Given the description of an element on the screen output the (x, y) to click on. 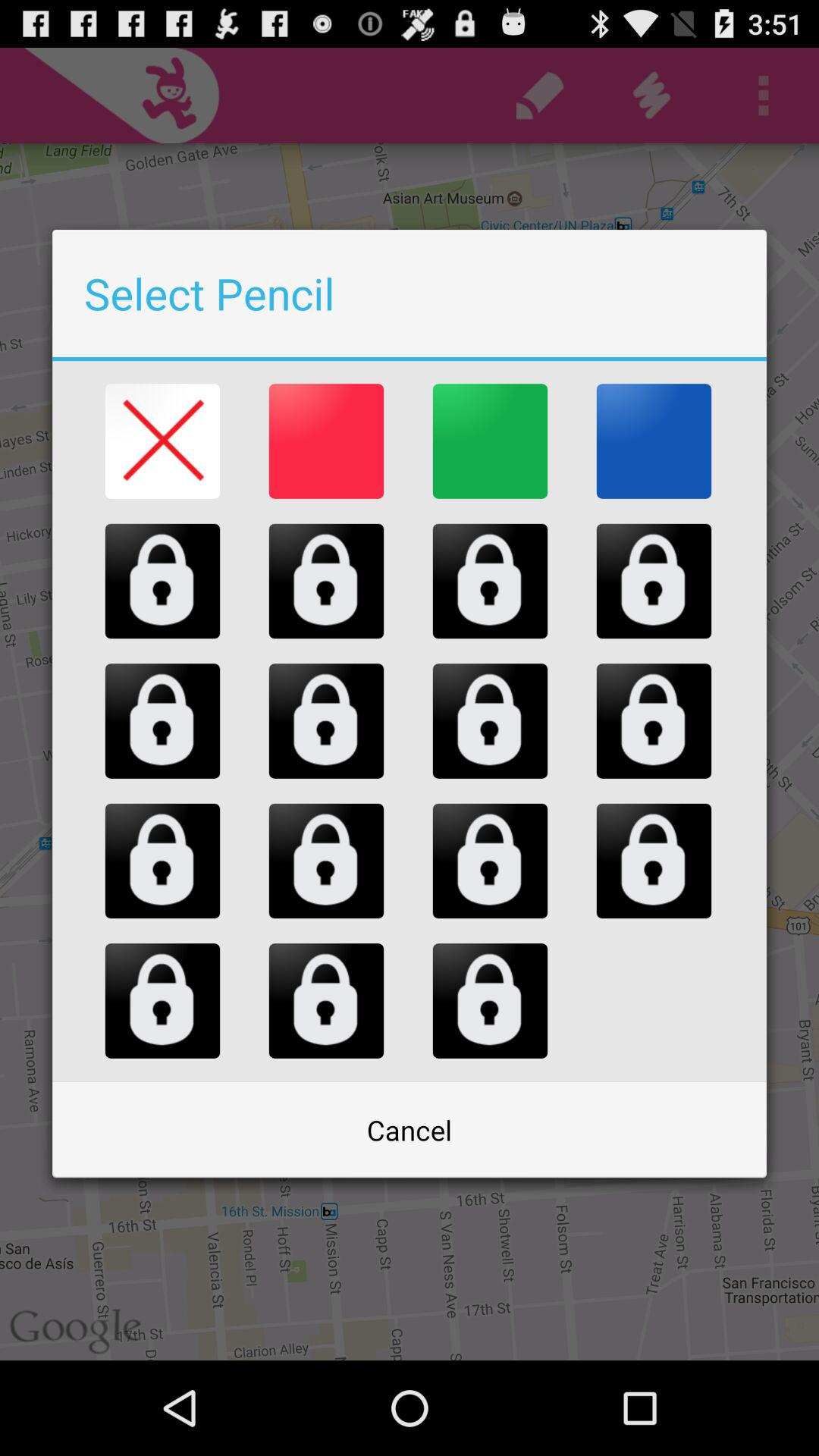
turn on the cancel item (409, 1129)
